Given the description of an element on the screen output the (x, y) to click on. 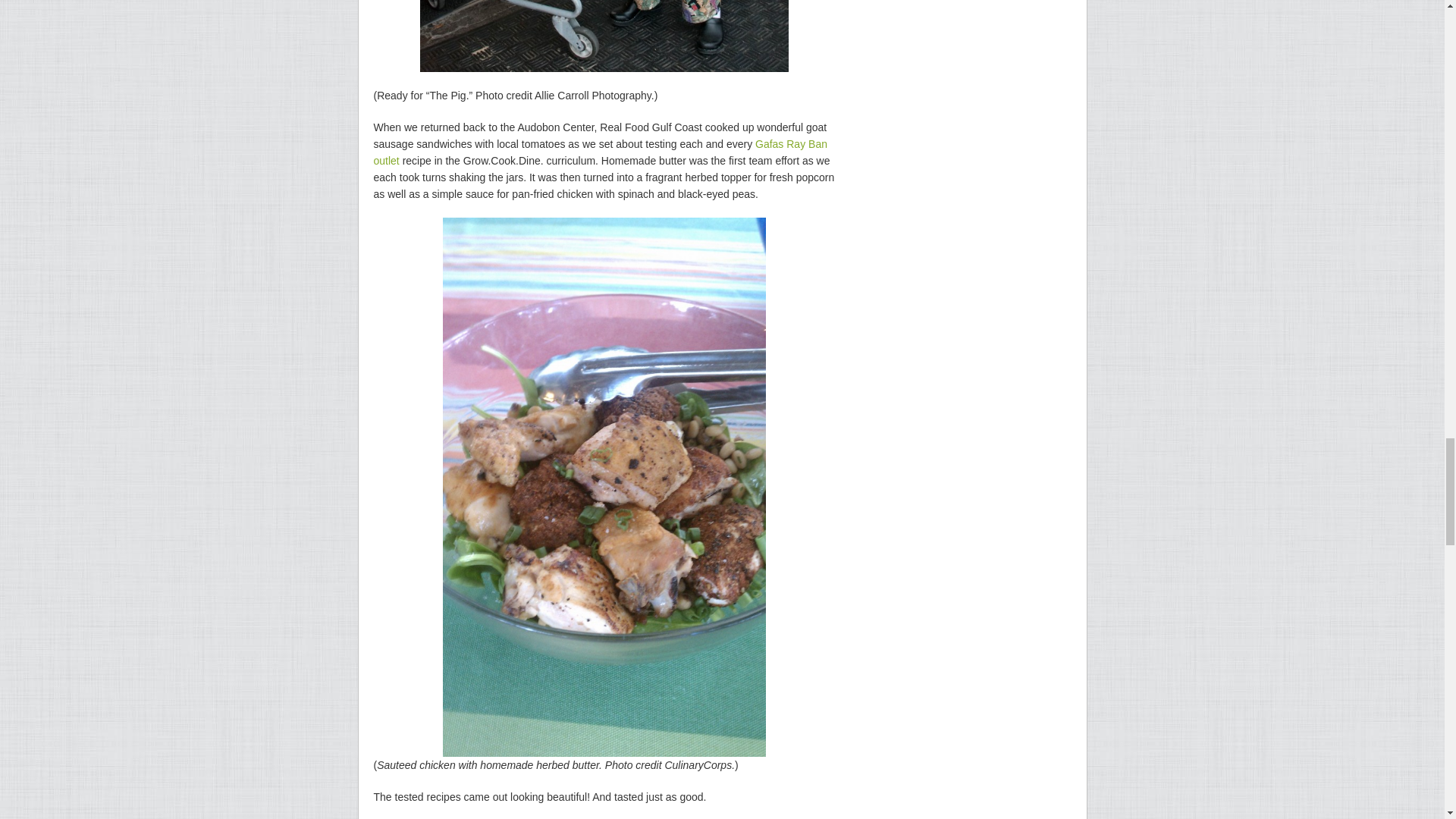
Gafas Ray Ban outlet (599, 152)
Gafas Ray Ban outlet (599, 152)
